Given the description of an element on the screen output the (x, y) to click on. 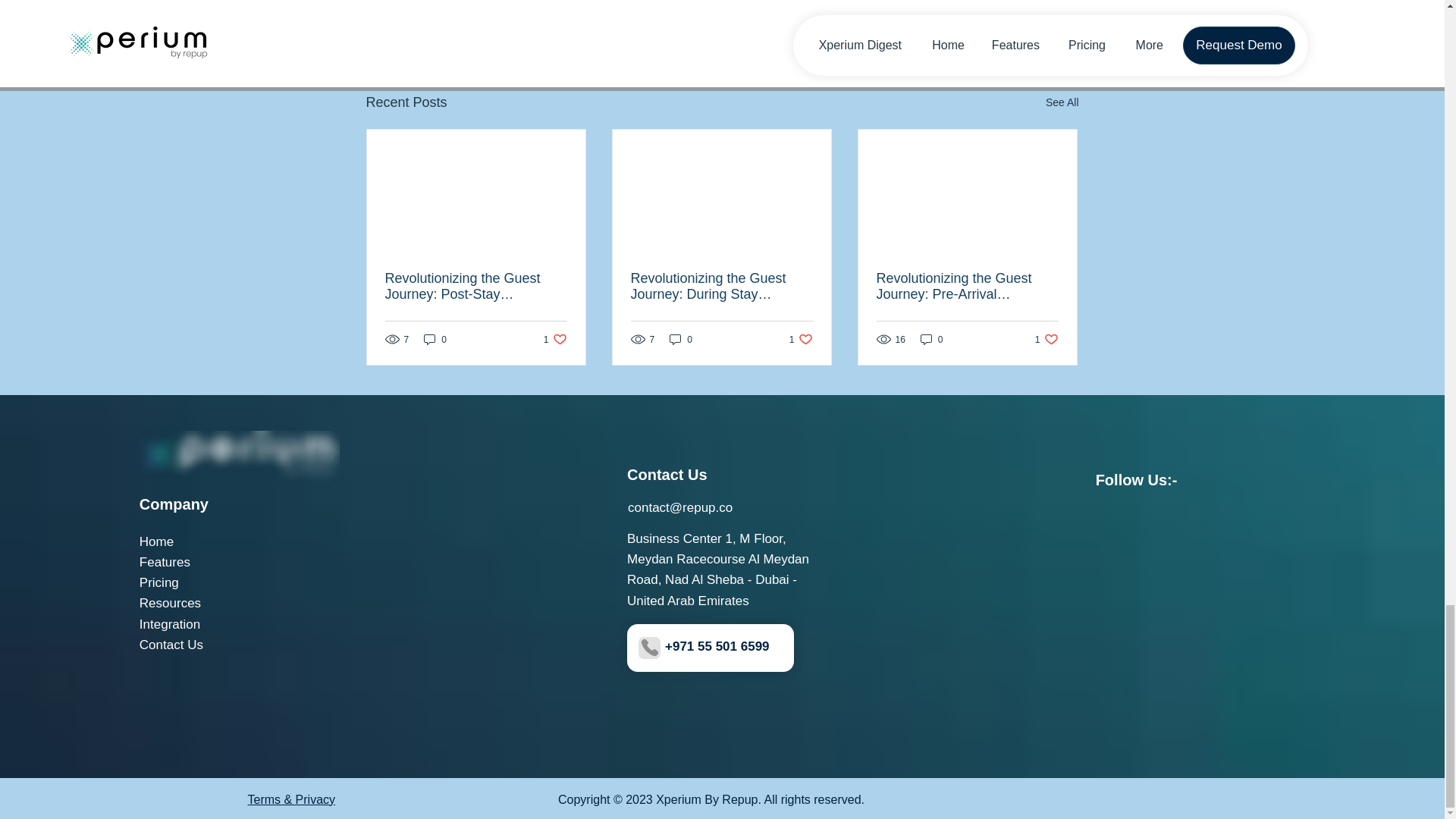
Revolutionizing the Guest Journey: Pre-Arrival Experience (967, 286)
Pricing (159, 582)
0 (800, 339)
Home (931, 339)
Post not marked as liked (156, 541)
0 (995, 19)
Resources (1046, 339)
See All (681, 339)
